Given the description of an element on the screen output the (x, y) to click on. 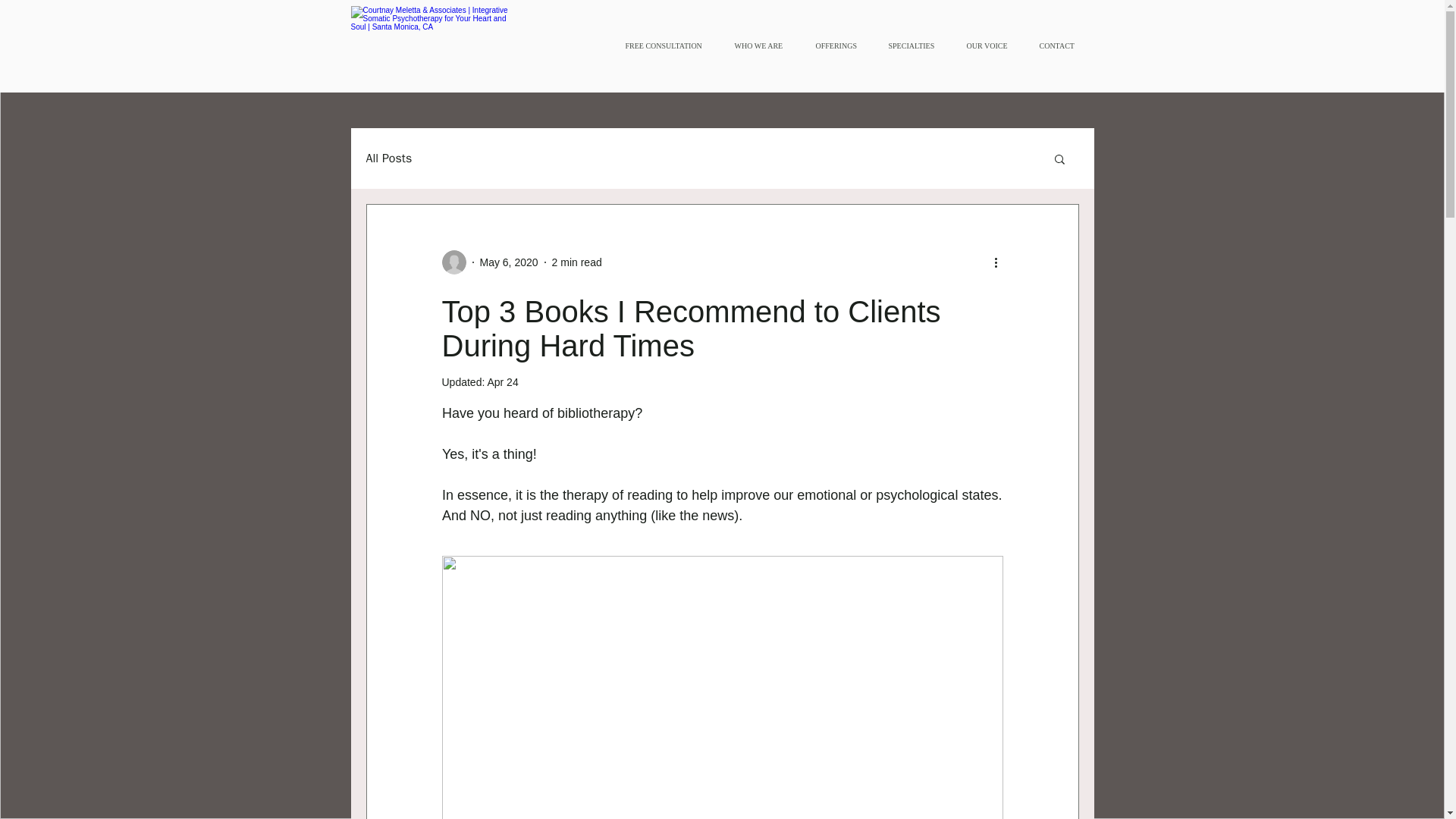
OFFERINGS (839, 45)
May 6, 2020 (508, 262)
All Posts (388, 157)
SPECIALTIES (915, 45)
FREE CONSULTATION (668, 45)
CONTACT (1059, 45)
2 min read (576, 262)
Apr 24 (502, 381)
OUR VOICE (989, 45)
